Given the description of an element on the screen output the (x, y) to click on. 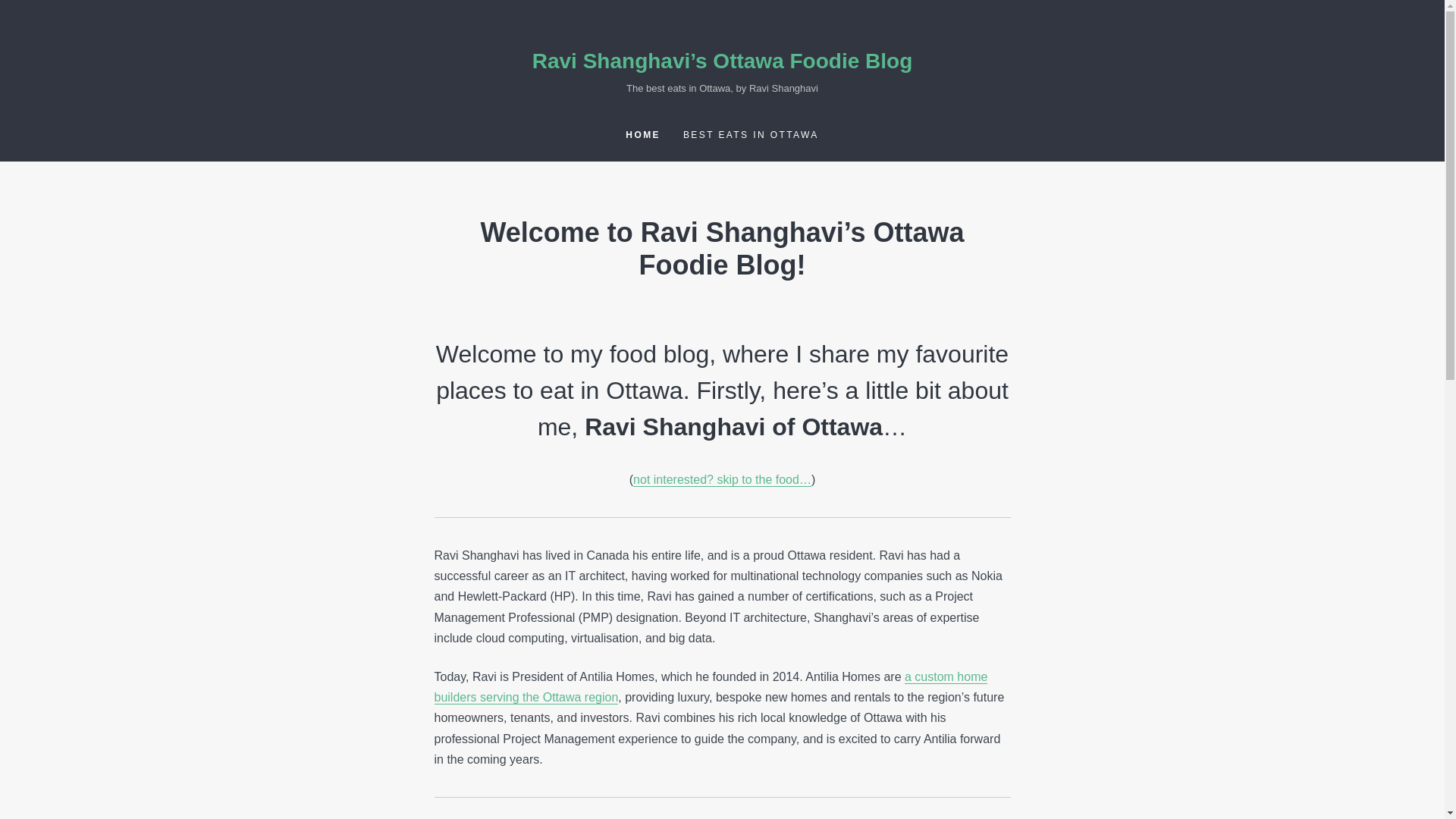
a custom home builders serving the Ottawa region (710, 687)
BEST EATS IN OTTAWA (750, 133)
